Given the description of an element on the screen output the (x, y) to click on. 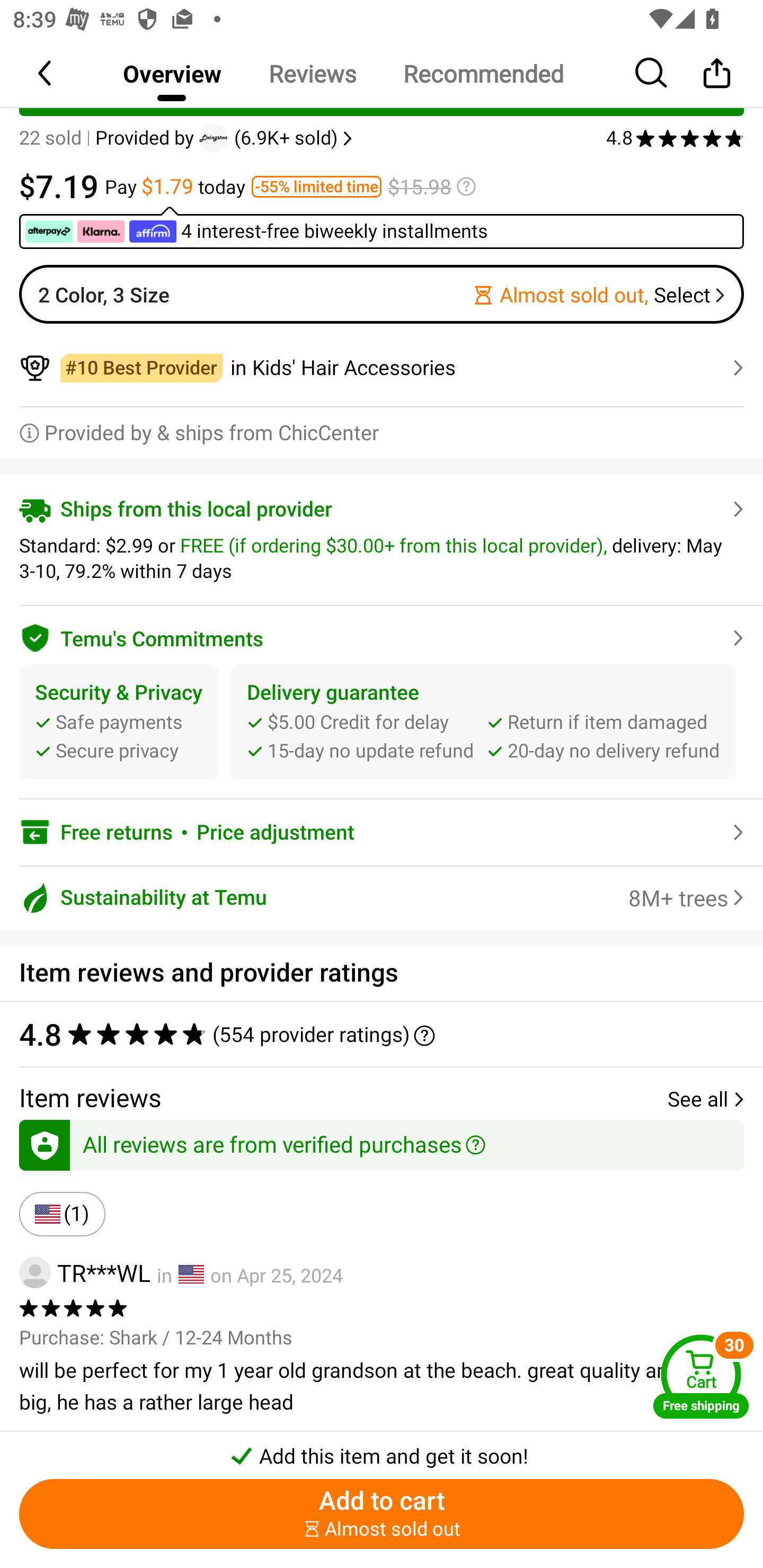
Overview (171, 72)
Reviews (311, 72)
Recommended (482, 72)
Back (46, 72)
Share (716, 72)
22 sold Provided by  (109, 137)
4.8 (674, 137)
￼ ￼ ￼ 4 interest-free biweekly installments (381, 227)
2 Color, 3 Size   Almost sold out, Select (381, 293)
￼￼in Kids' Hair Accessories (381, 367)
Temu's Commitments (381, 634)
Security & Privacy Safe payments Secure privacy (118, 721)
Free returns￼Price adjustment (381, 832)
Sustainability at Temu 8M+ trees (381, 898)
4.8 ‪(554 provider ratings) (371, 1033)
(1) (62, 1214)
TR***WL (84, 1271)
Cart Free shipping Cart (701, 1375)
￼￼Add this item and get it soon!  (381, 1450)
Add to cart ￼￼Almost sold out (381, 1513)
